Given the description of an element on the screen output the (x, y) to click on. 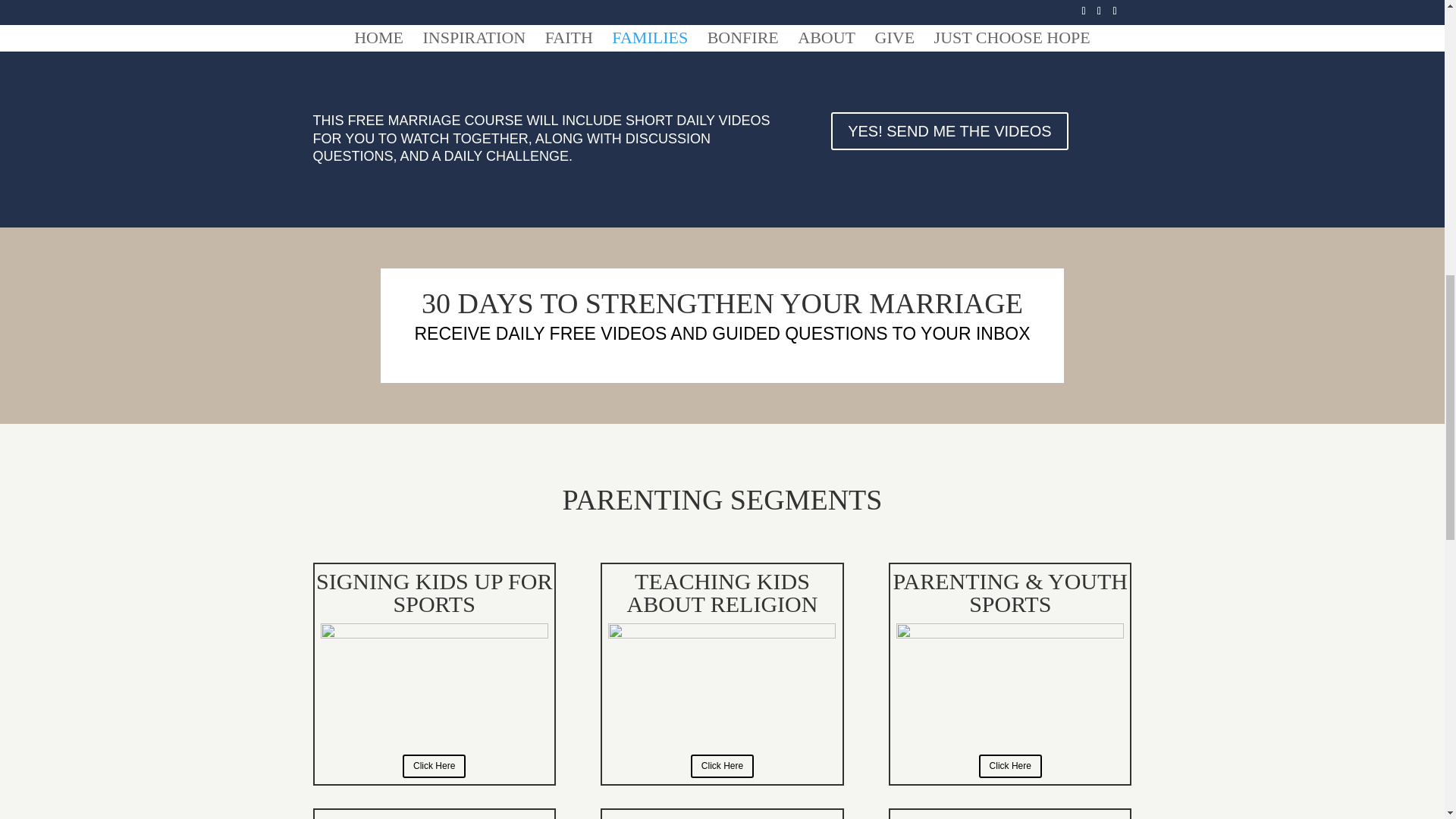
Click Here (434, 766)
Click Here (1010, 766)
Click Here (722, 766)
YES! SEND ME THE VIDEOS (949, 130)
